Given the description of an element on the screen output the (x, y) to click on. 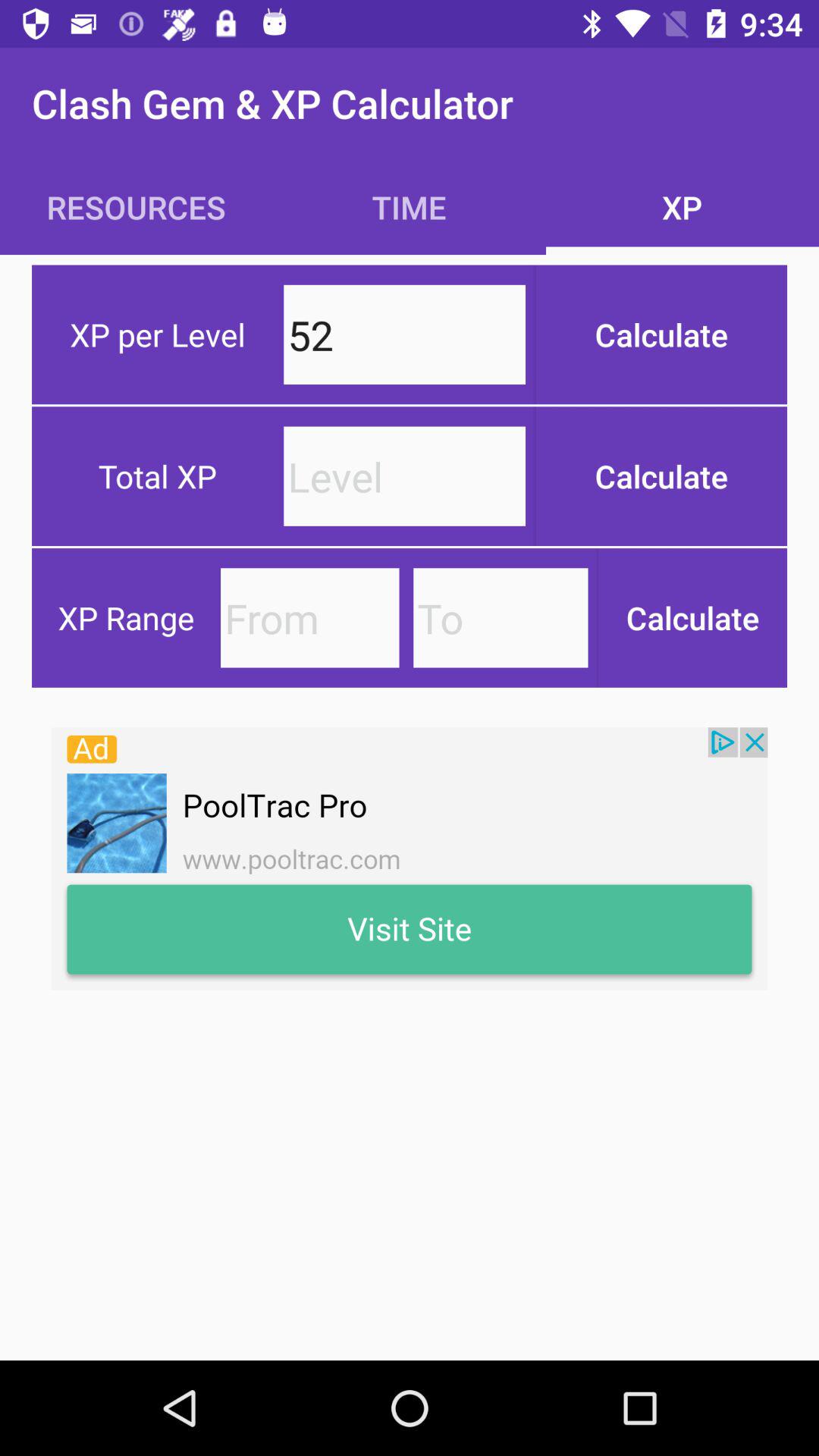
image link to advertisement (409, 858)
